Given the description of an element on the screen output the (x, y) to click on. 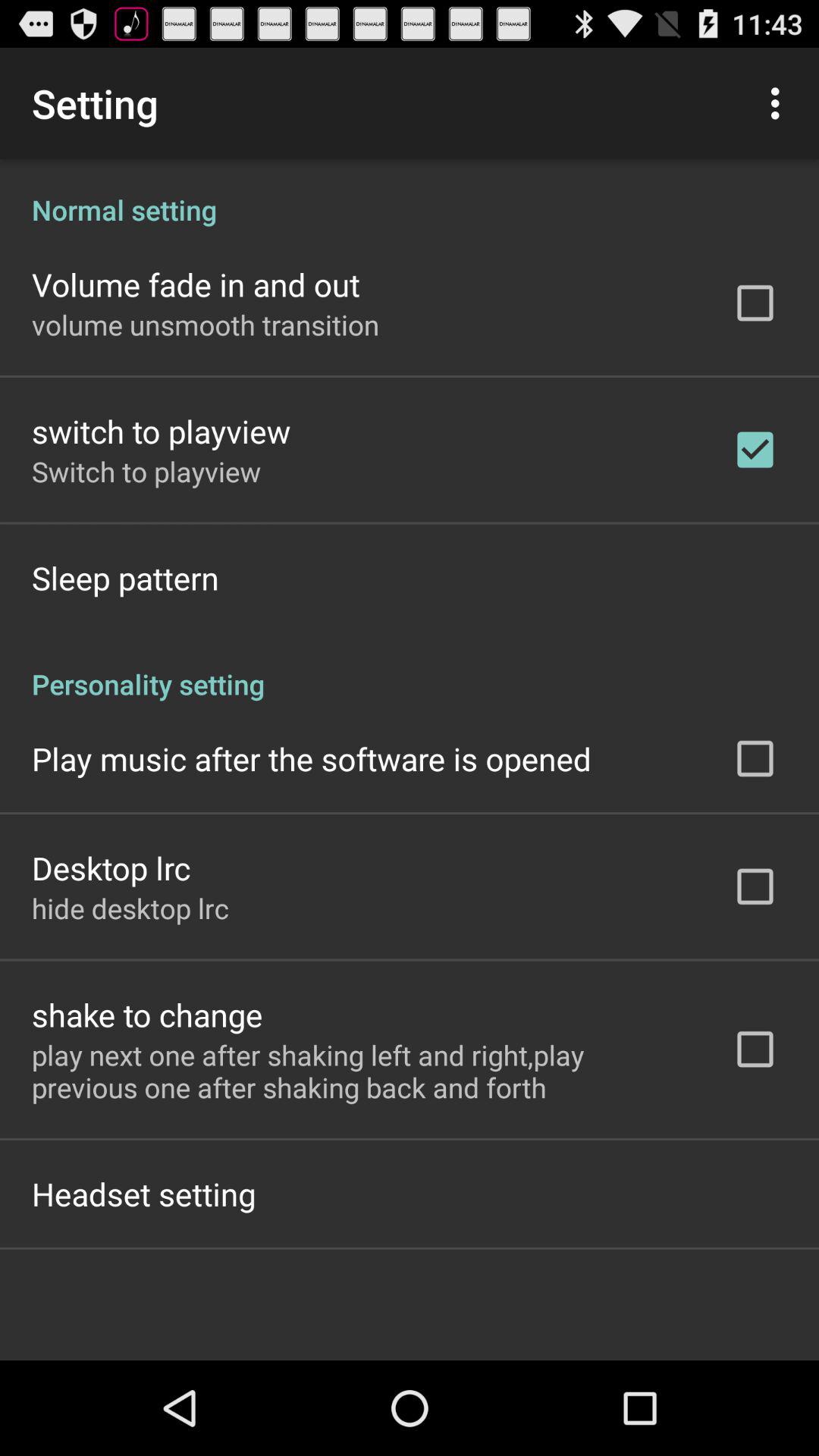
click app below the volume fade in icon (205, 324)
